Given the description of an element on the screen output the (x, y) to click on. 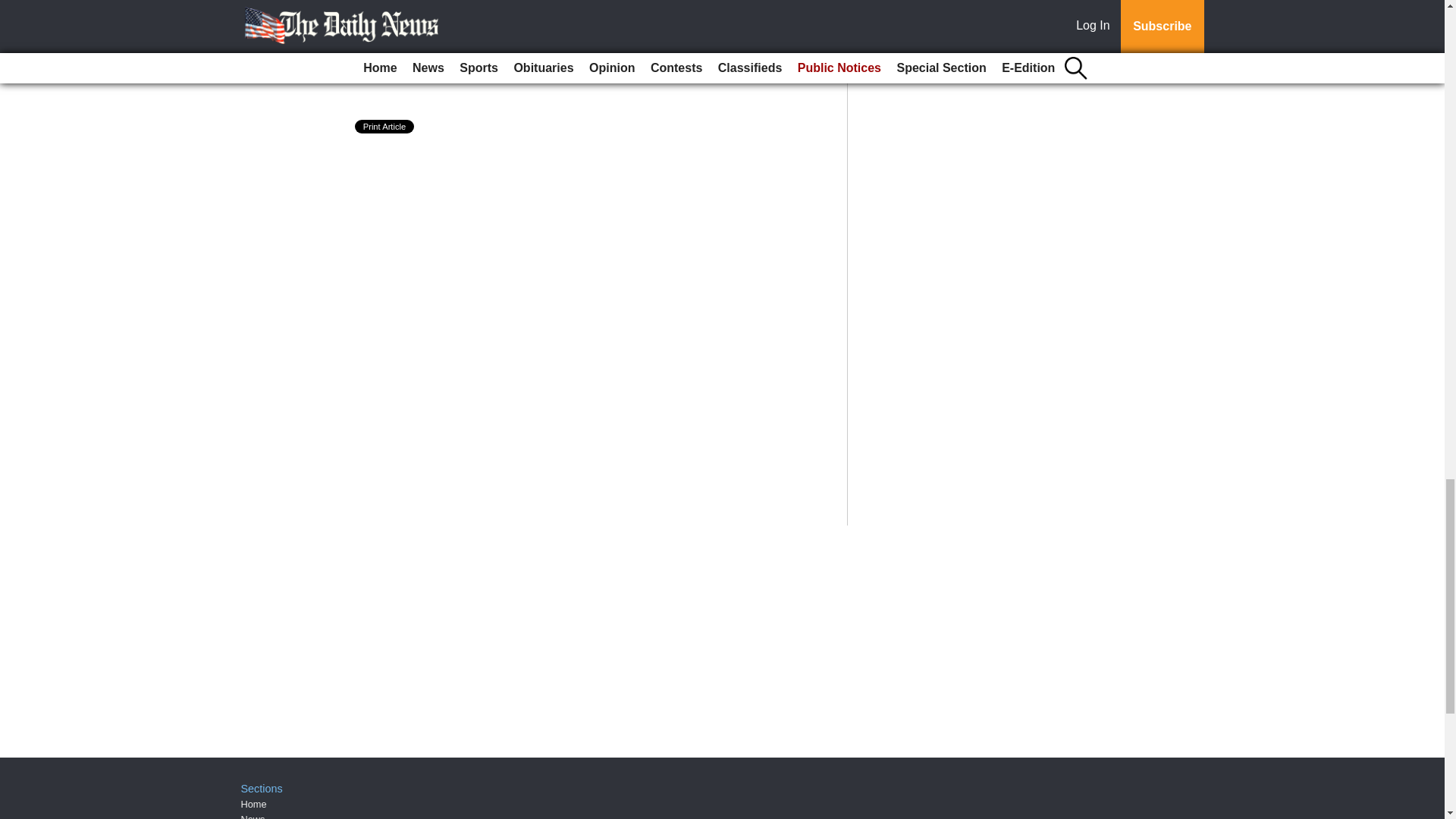
Print Article (384, 126)
News (252, 816)
Home (253, 803)
